Given the description of an element on the screen output the (x, y) to click on. 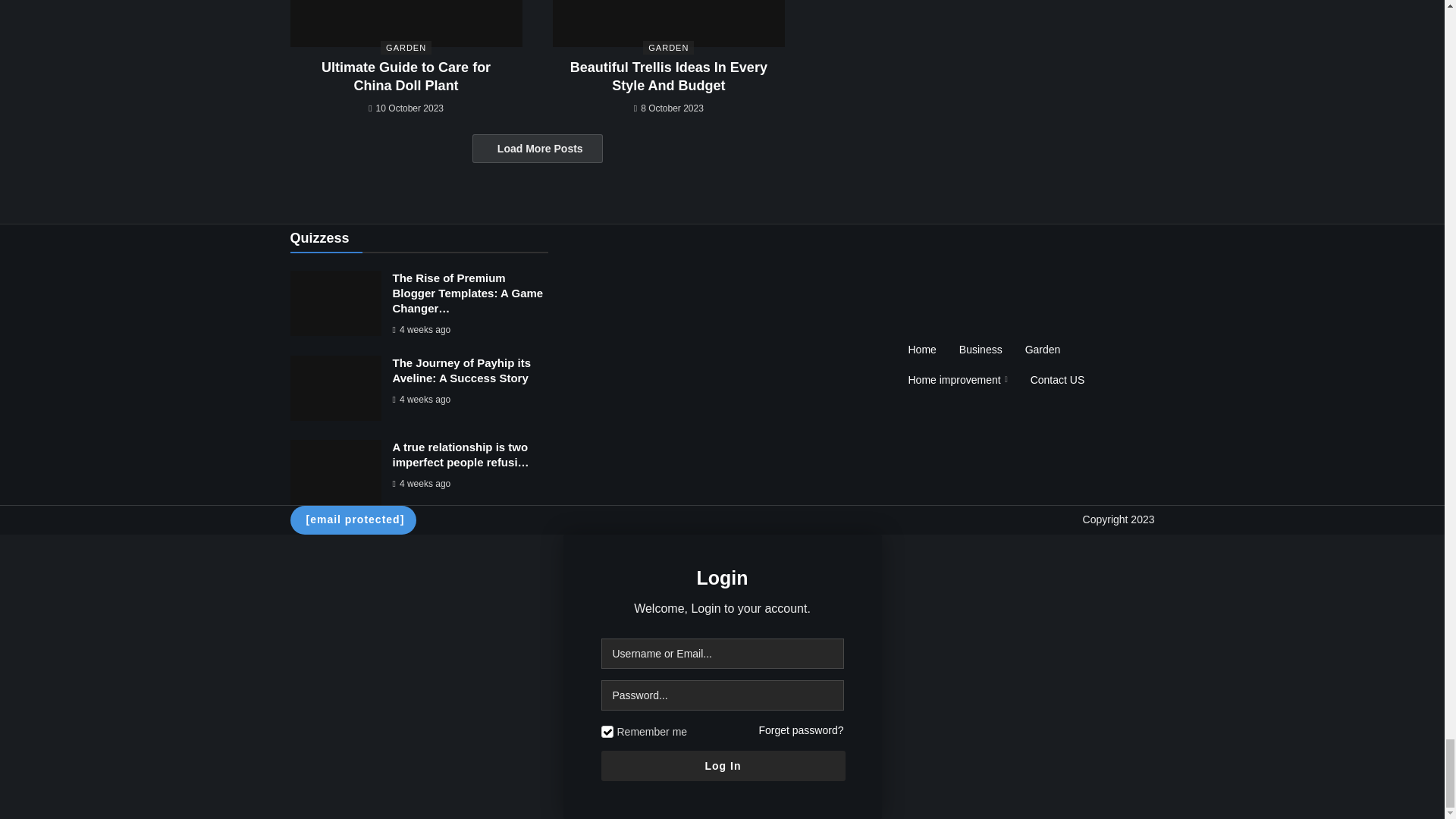
Log In (721, 766)
Ultimate Guide to Care for China Doll Plant (405, 76)
Load More Posts (536, 148)
Ultimate Guide to Care for China Doll Plant (405, 23)
Beautiful Trellis Ideas In Every Style And Budget (668, 23)
Beautiful Trellis Ideas In Every Style And Budget (668, 76)
